Given the description of an element on the screen output the (x, y) to click on. 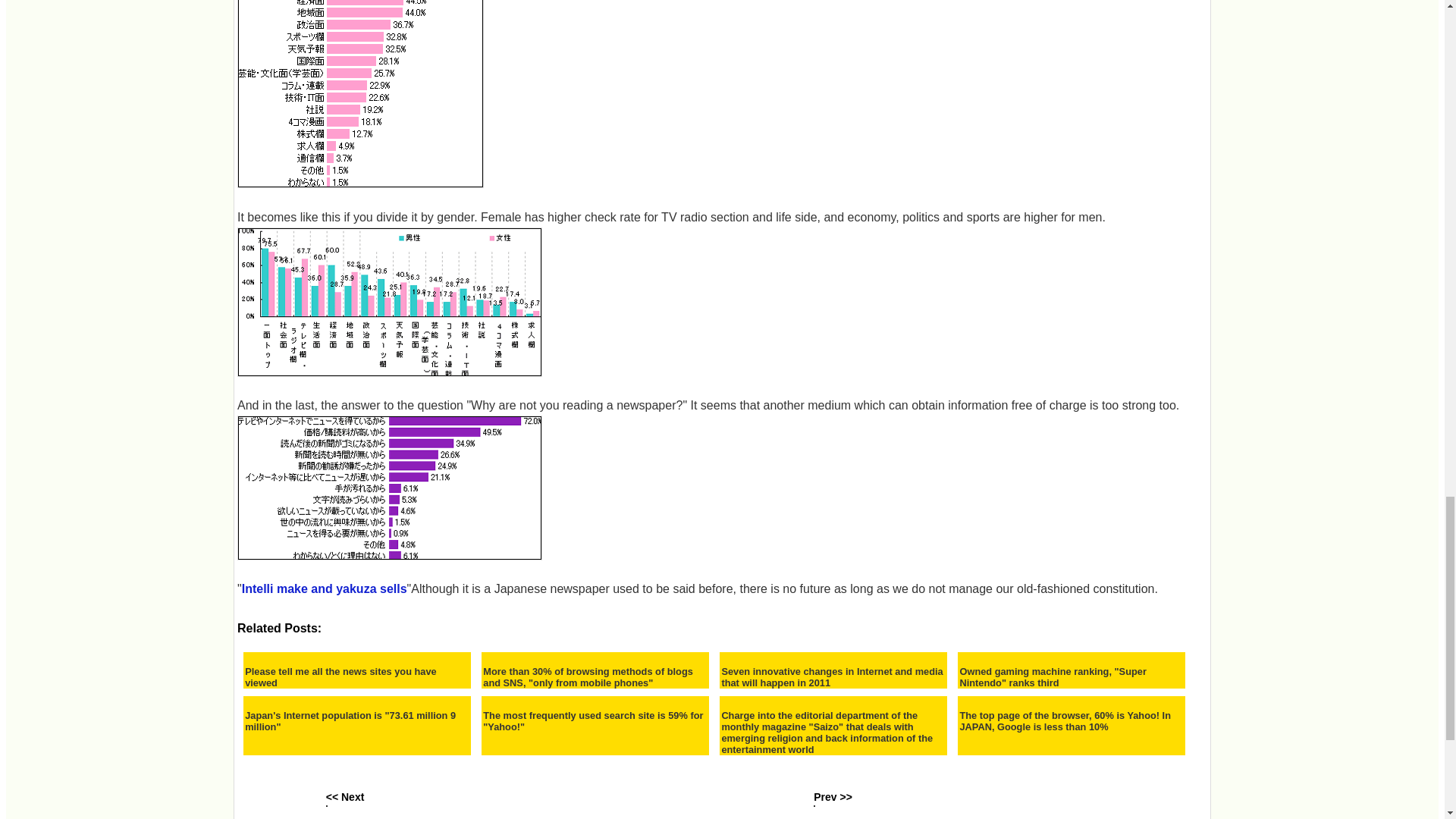
Intelli make and yakuza sells (324, 588)
Japan's Internet population is "73.61 million 9 million" (356, 721)
Please tell me all the news sites you have viewed (356, 676)
Owned gaming machine ranking, "Super Nintendo" ranks third (1071, 676)
